Given the description of an element on the screen output the (x, y) to click on. 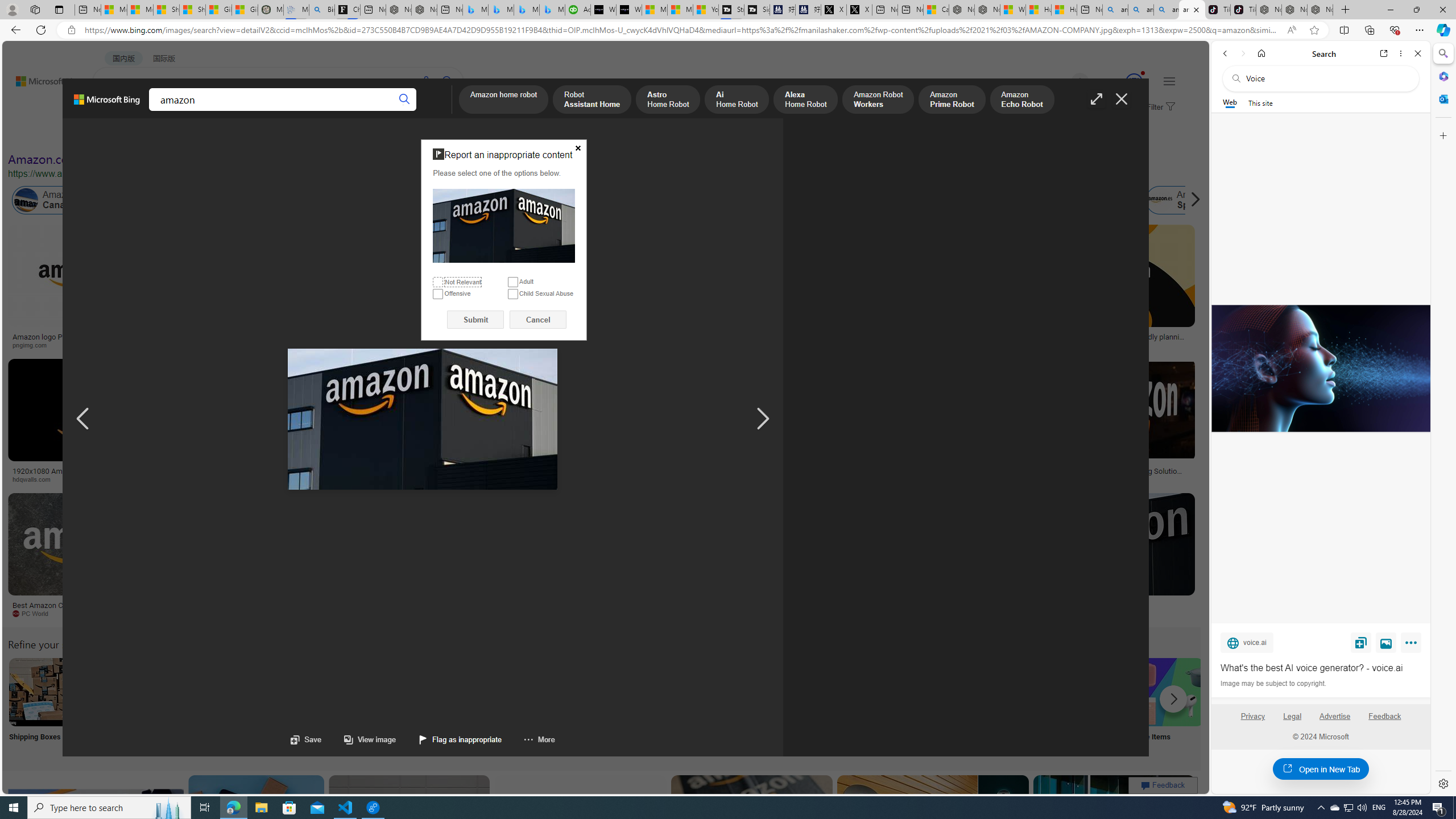
People (295, 135)
Amazon Forest (999, 200)
Adult (512, 282)
Submit (474, 319)
Legal (1292, 720)
IMAGES (156, 111)
Alexa Home Robot (805, 100)
mytotalretail.com (224, 344)
